Given the description of an element on the screen output the (x, y) to click on. 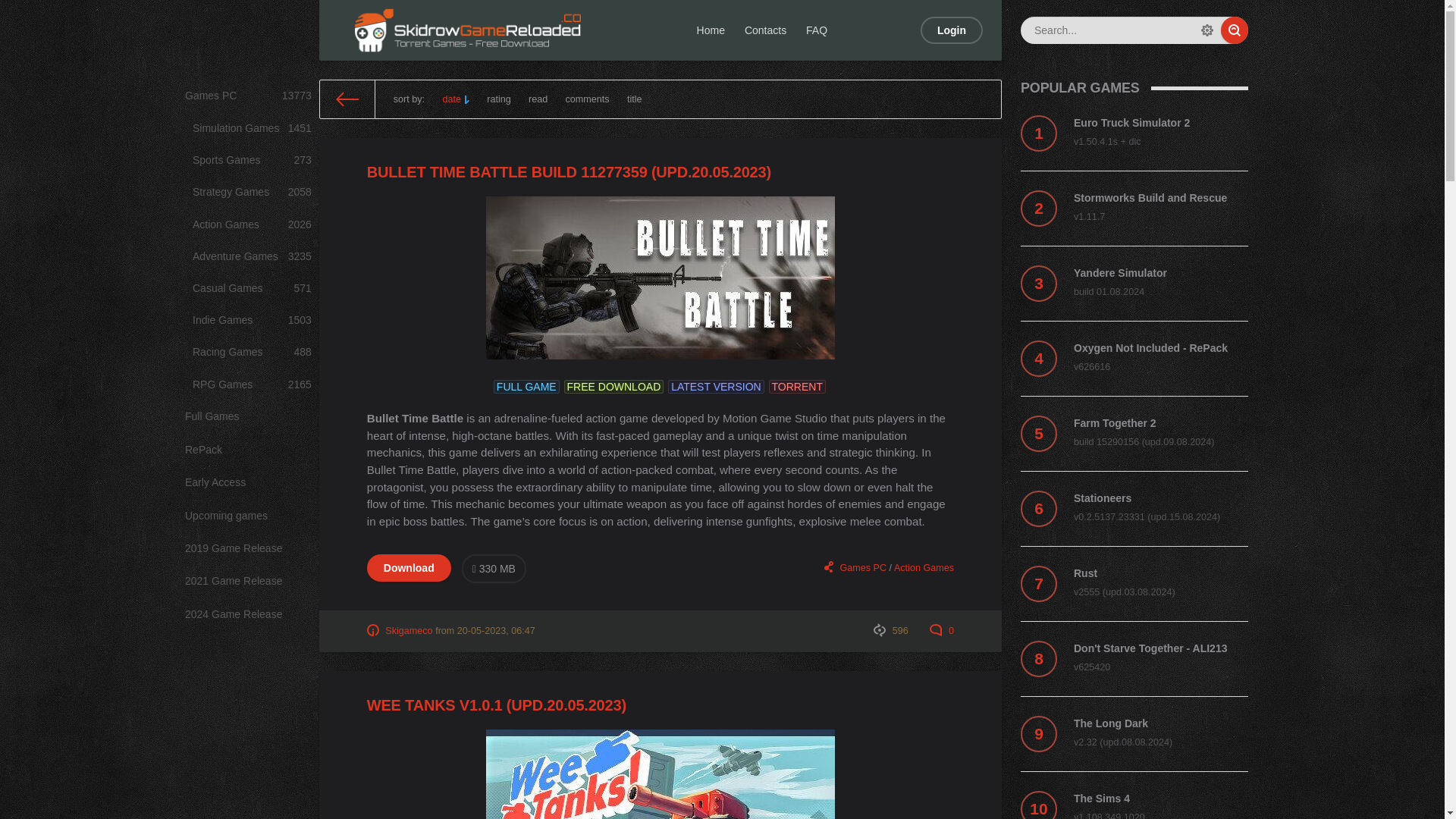
FAQ (816, 30)
Extended Search (1207, 30)
date (455, 99)
RePack (251, 320)
Login (247, 450)
2019 Game Release (251, 352)
Upcoming games (951, 30)
comments (247, 548)
